Given the description of an element on the screen output the (x, y) to click on. 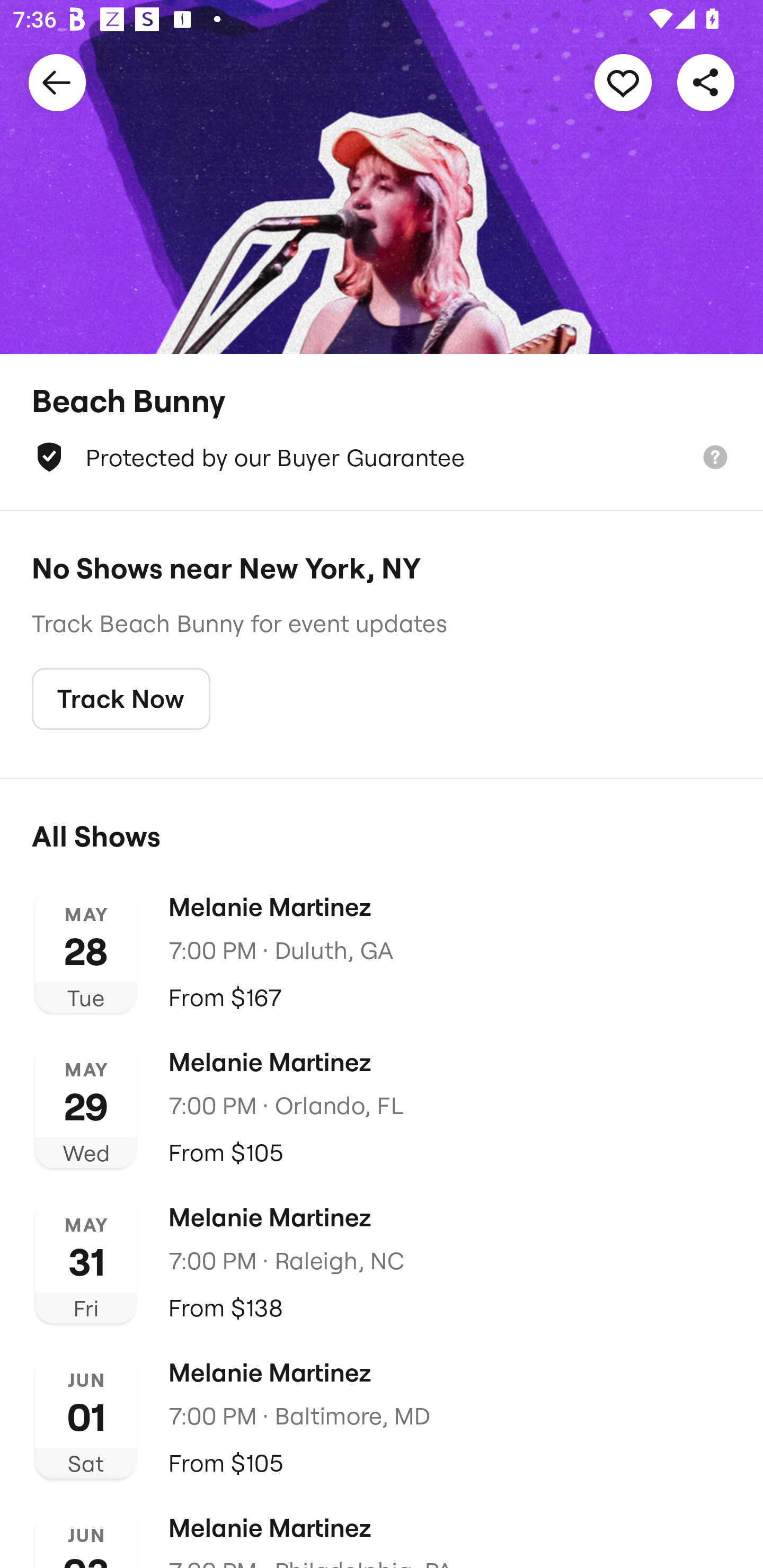
Back (57, 81)
Track this performer (623, 81)
Share this performer (705, 81)
Protected by our Buyer Guarantee Learn more (381, 456)
Track Now (121, 699)
